Given the description of an element on the screen output the (x, y) to click on. 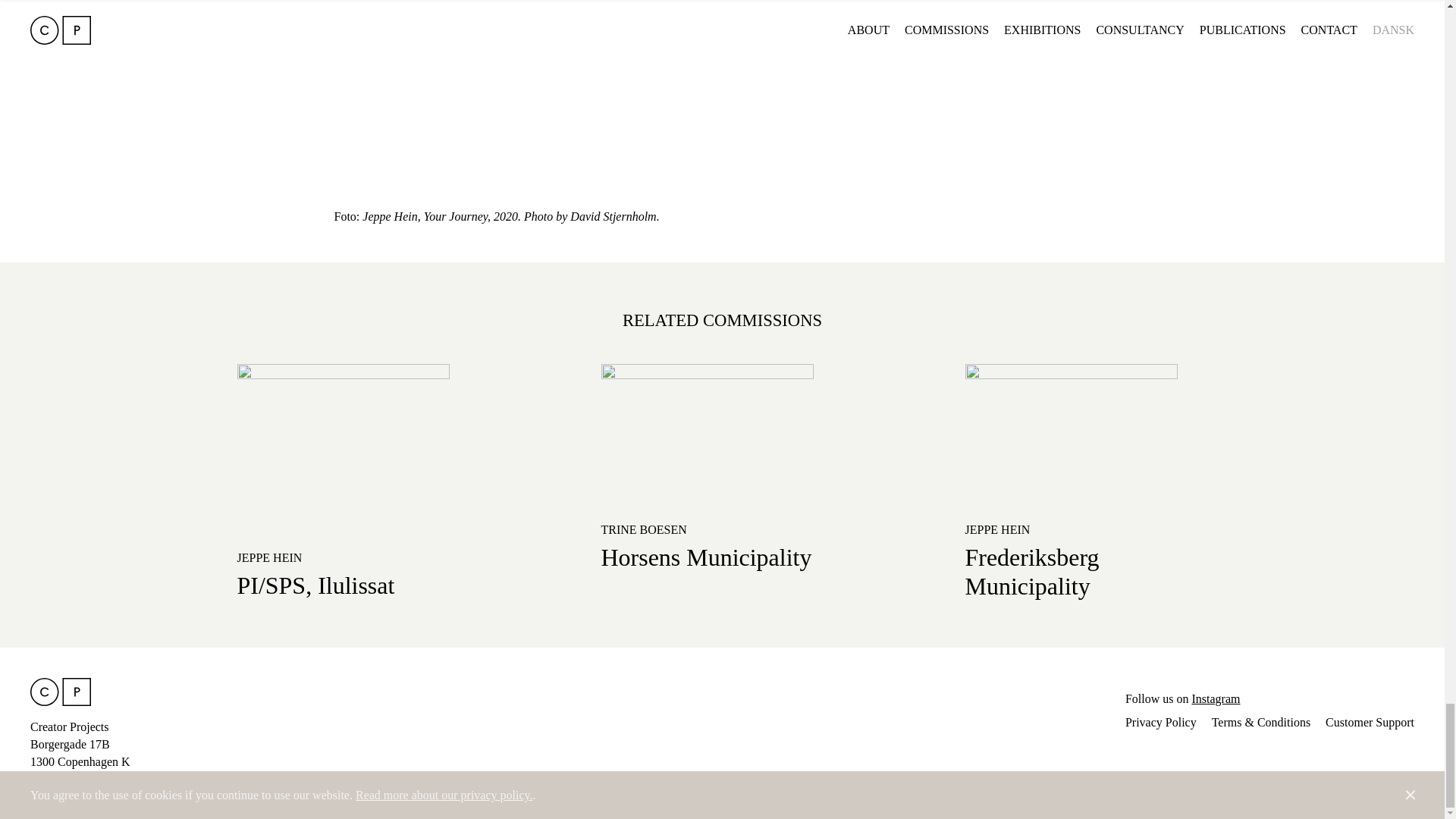
JEPPE HEIN (268, 557)
Horsens Municipality (704, 557)
Frederiksberg Municipality (1031, 571)
Customer Support (1368, 721)
Privacy Policy (1160, 721)
Instagram (1215, 698)
TRINE BOESEN (642, 529)
JEPPE HEIN (996, 529)
